Given the description of an element on the screen output the (x, y) to click on. 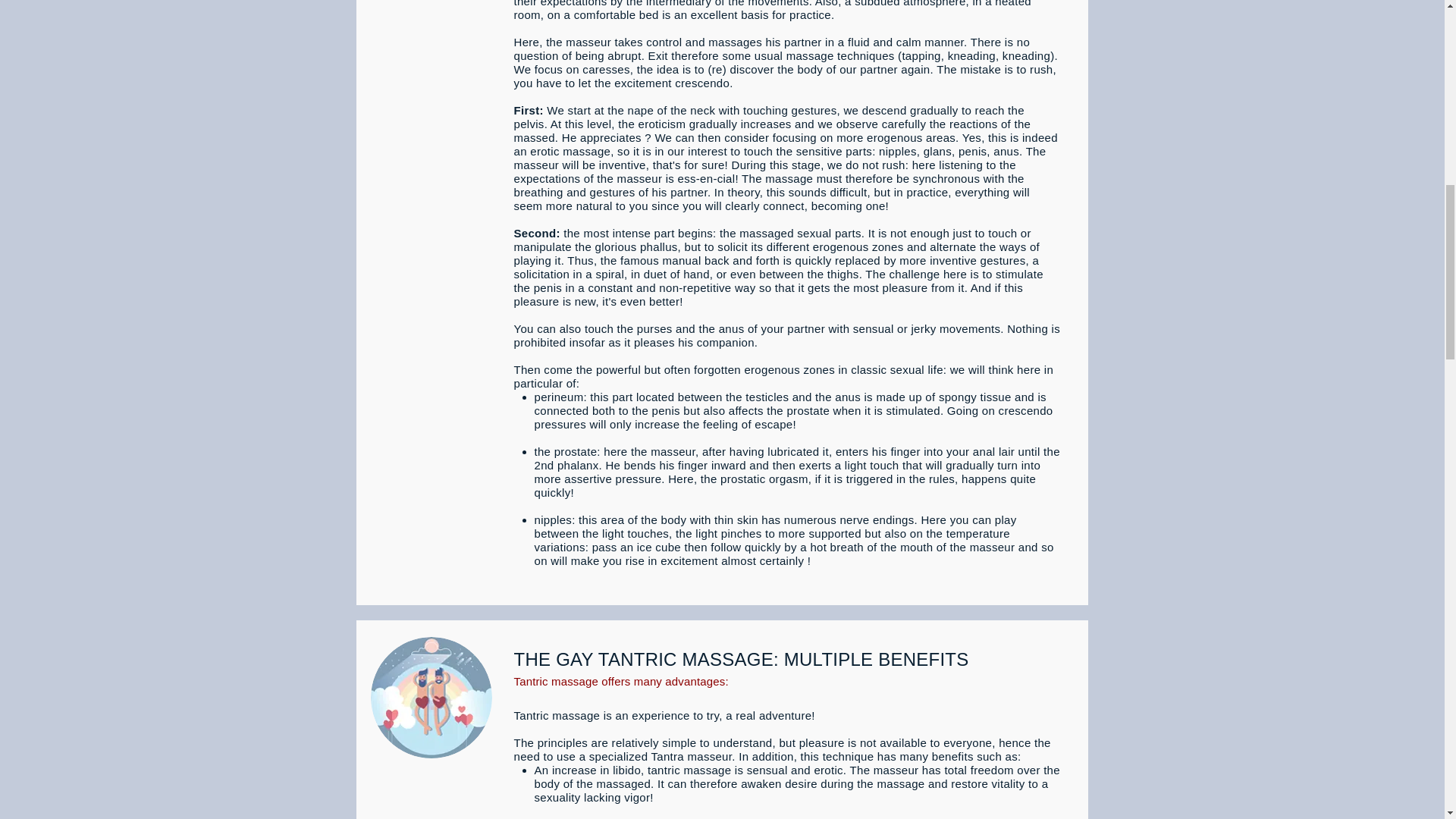
Tantric Gay Massage Brussels (430, 697)
